Given the description of an element on the screen output the (x, y) to click on. 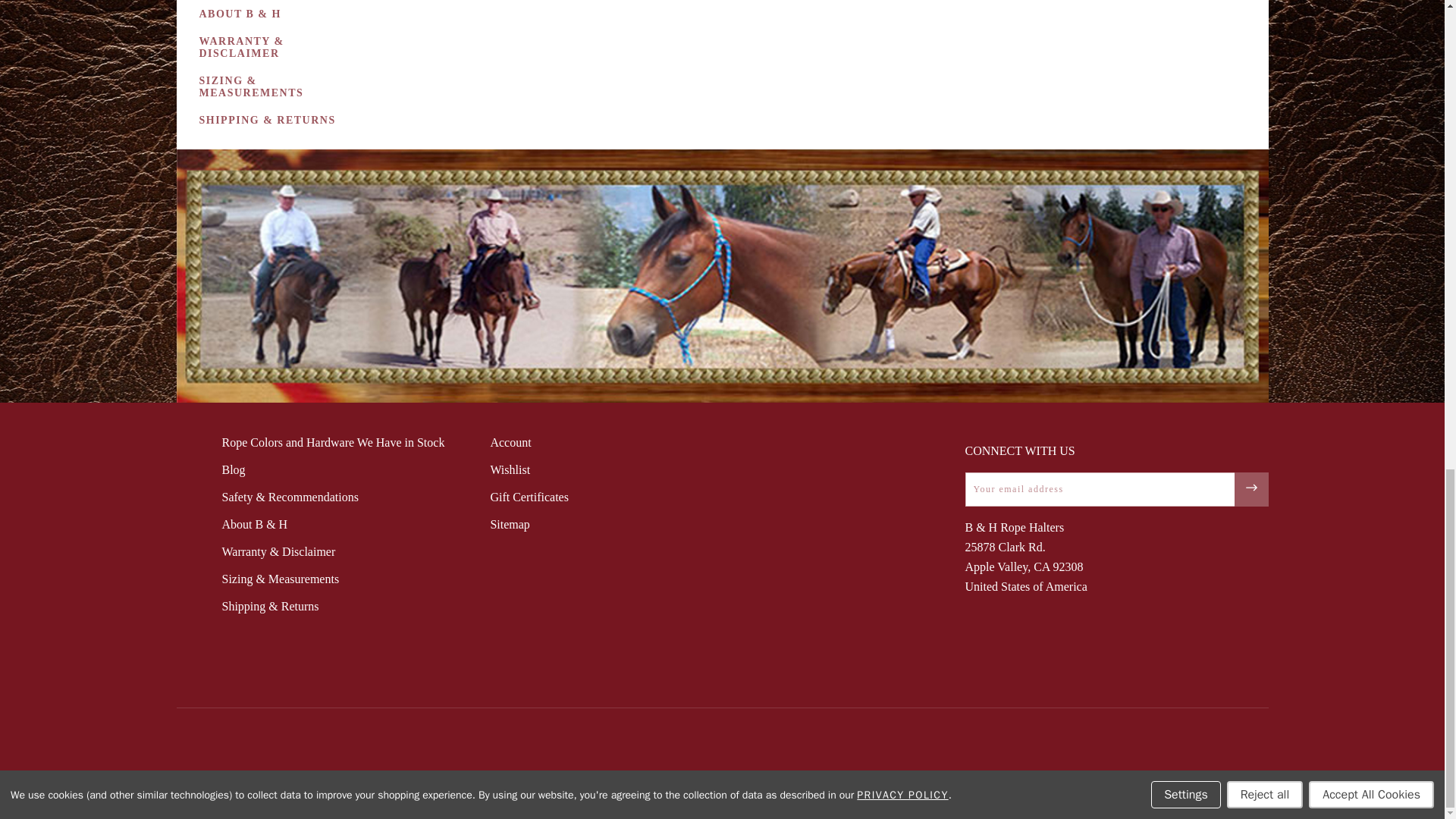
Connect With Us (1250, 487)
